Given the description of an element on the screen output the (x, y) to click on. 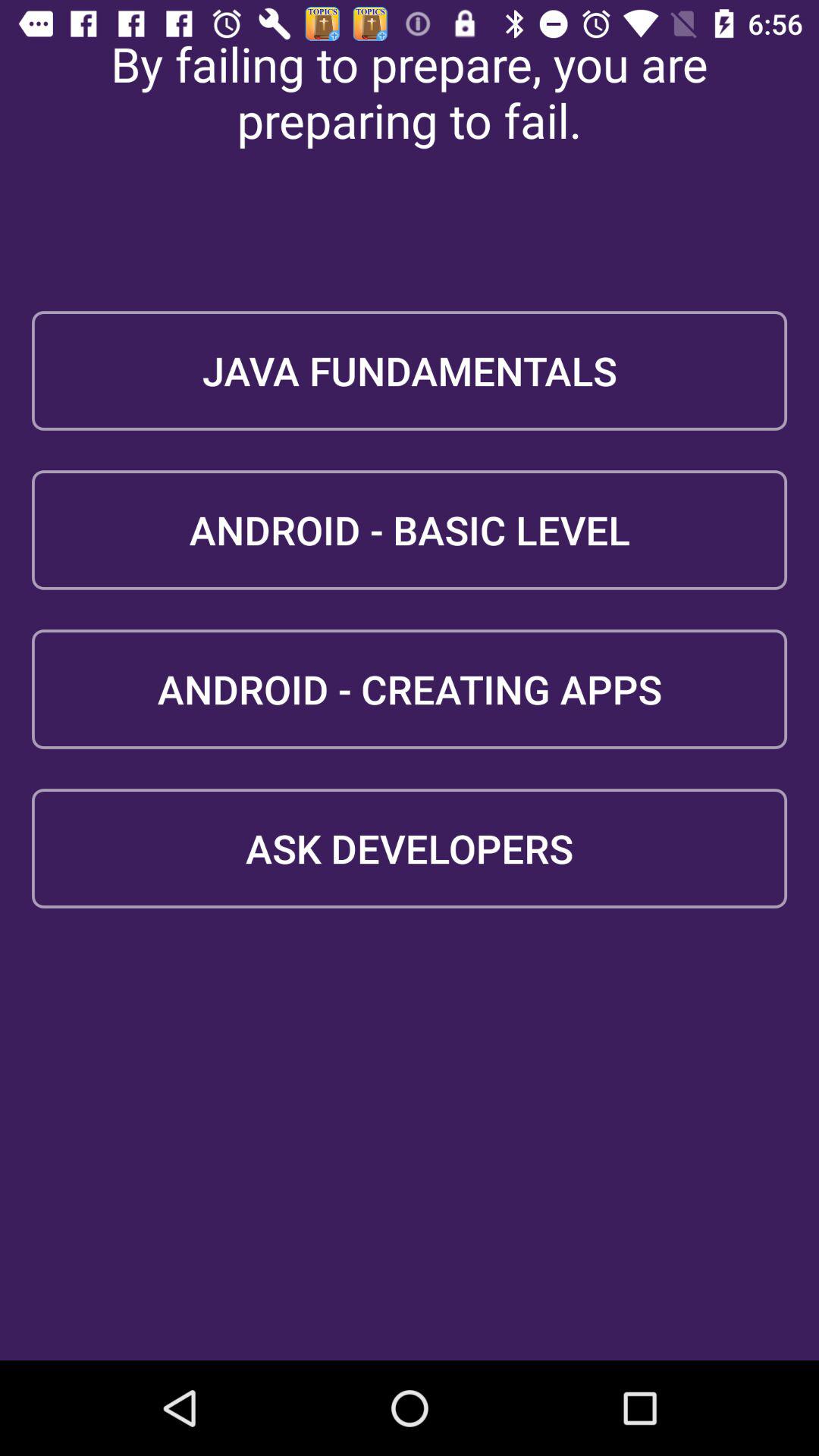
select item below android - basic level item (409, 689)
